Given the description of an element on the screen output the (x, y) to click on. 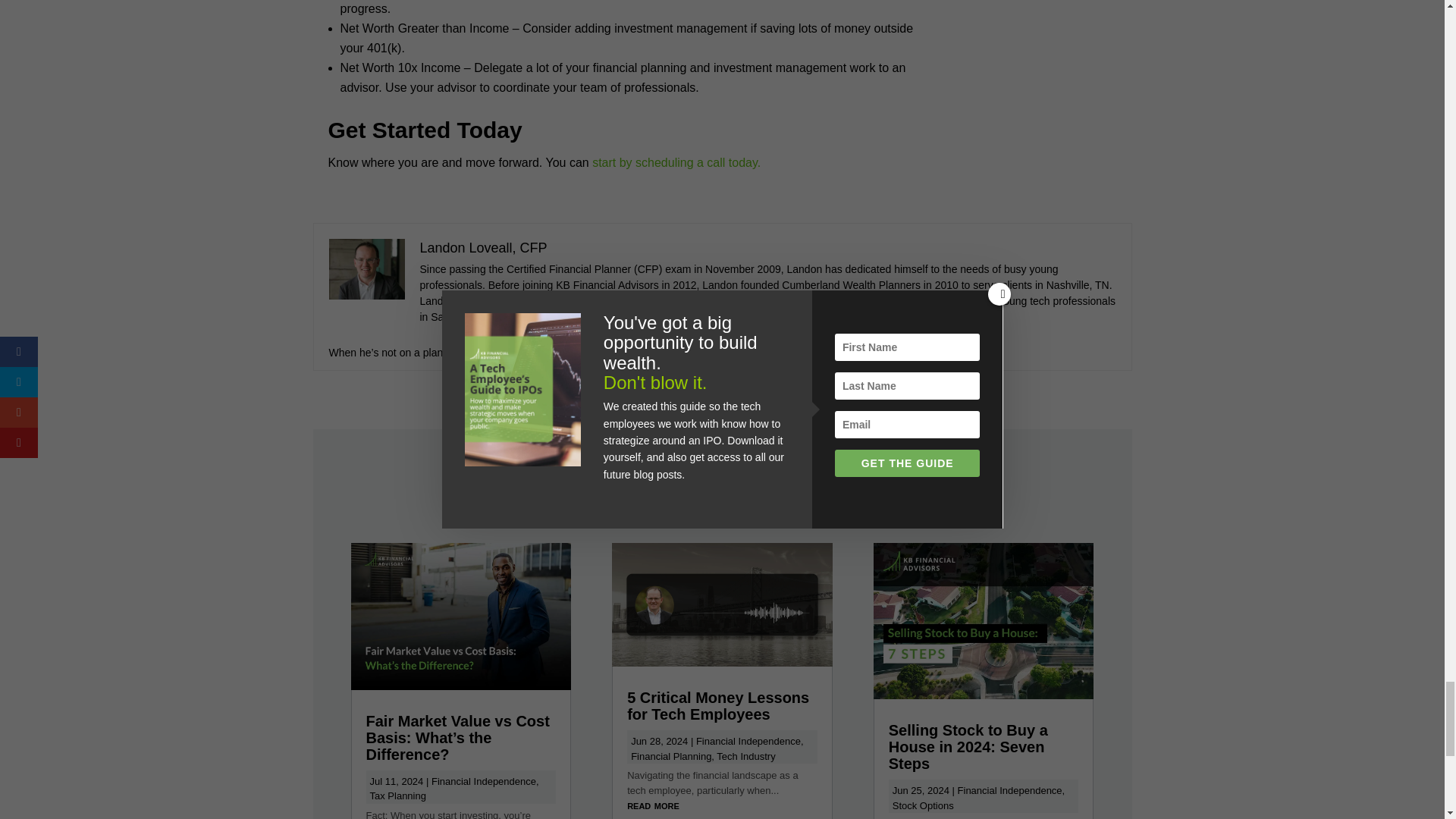
start by scheduling a call today. (676, 162)
